Given the description of an element on the screen output the (x, y) to click on. 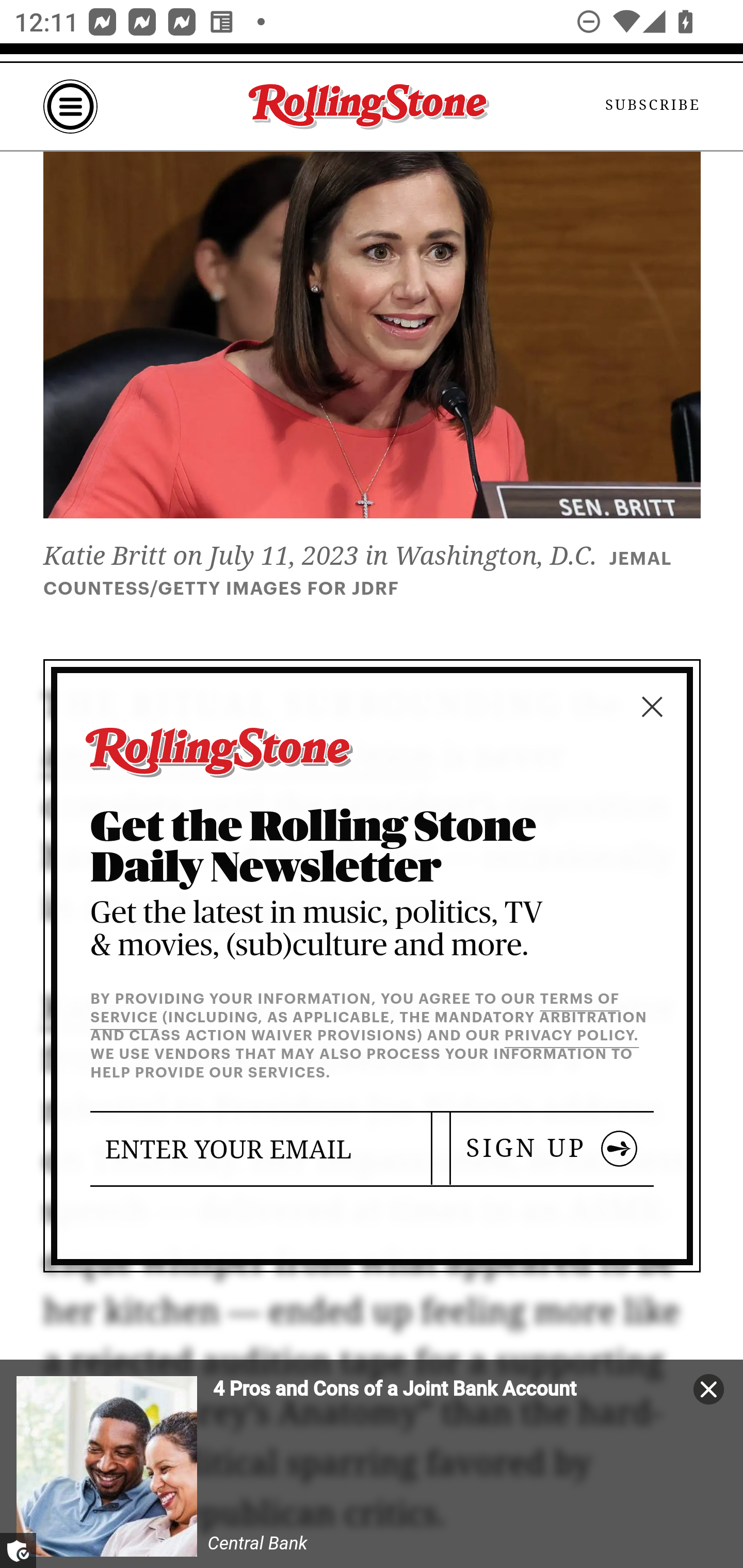
SIGN UP (551, 1148)
